Given the description of an element on the screen output the (x, y) to click on. 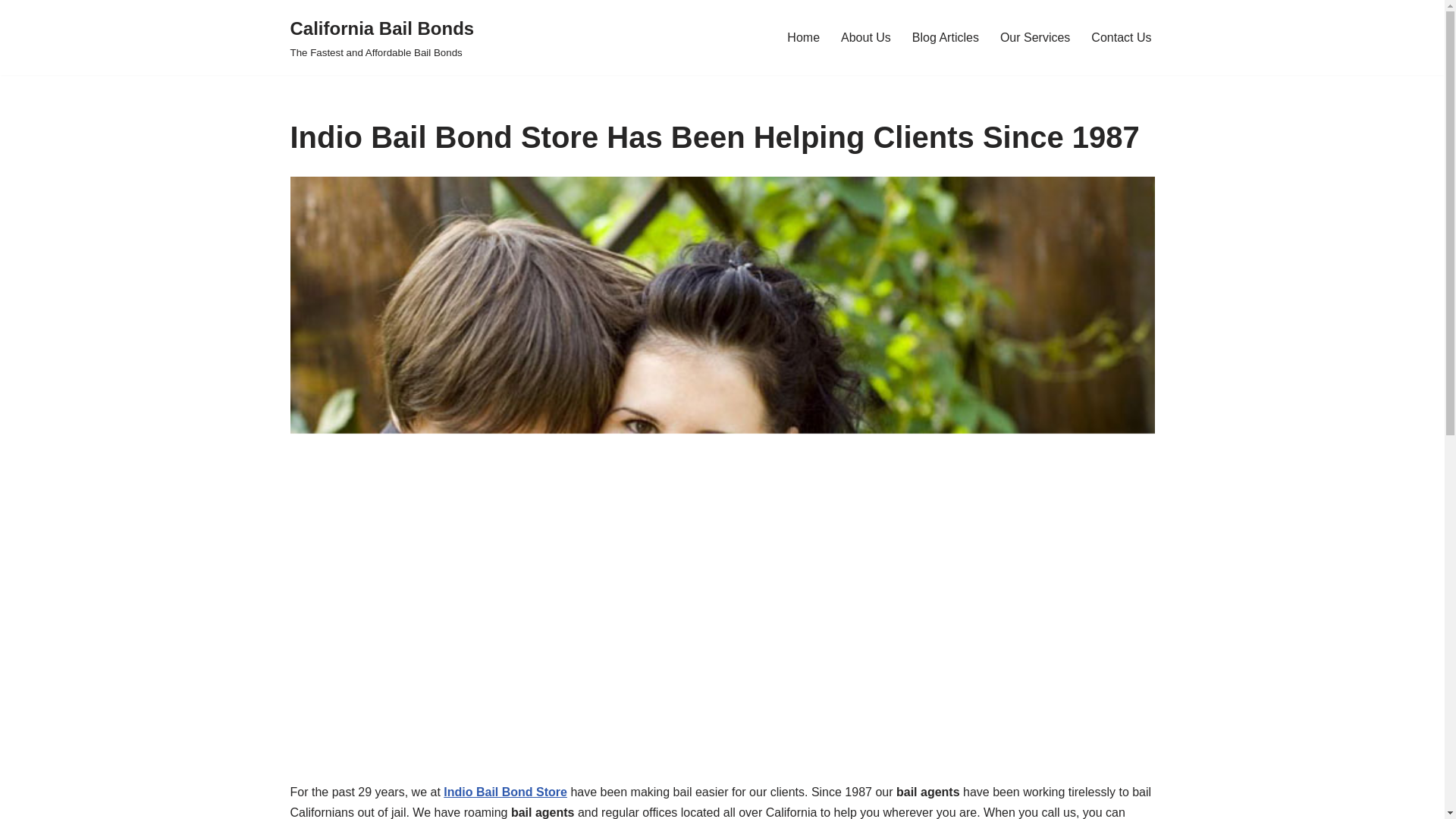
Our Services (1035, 37)
Home (803, 37)
Indio Bail Bond Store Has Been Helping Clients Since 1987 (381, 37)
Contact Us (945, 37)
Skip to content (1120, 37)
About Us (11, 31)
Navigation Menu (866, 37)
